Given the description of an element on the screen output the (x, y) to click on. 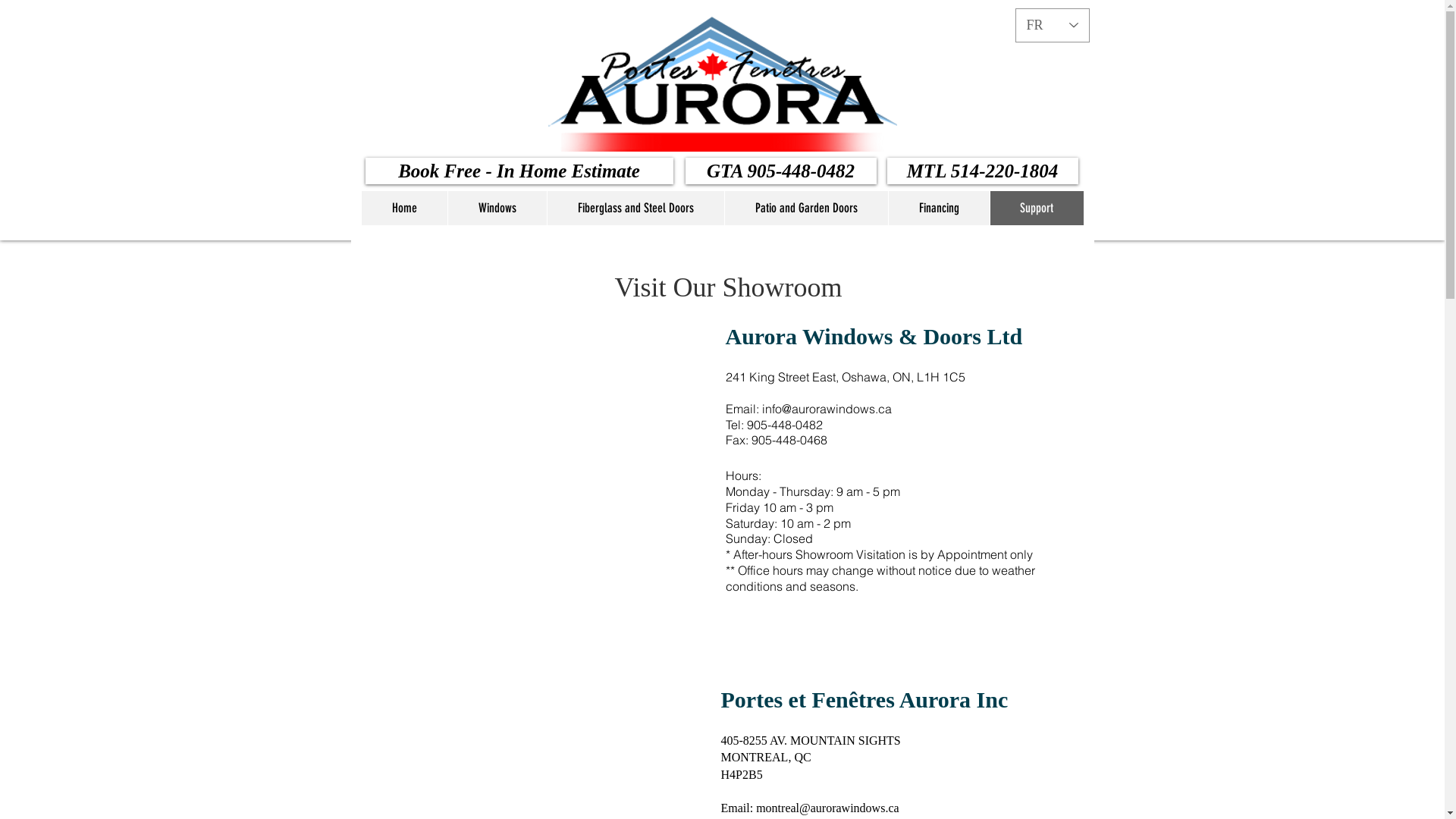
Financing Element type: text (937, 208)
Patio and Garden Doors Element type: text (805, 208)
Google Maps Element type: hover (534, 454)
GTA 905-448-0482 Element type: text (780, 170)
Windows Element type: text (496, 208)
info@aurorawindows.ca Element type: text (826, 408)
Home Element type: text (403, 208)
Fiberglass and Steel Doors Element type: text (634, 208)
Book Free - In Home Estimate Element type: text (519, 170)
MTL 514-220-1804 Element type: text (982, 170)
montreal@aurorawindows.ca Element type: text (827, 807)
Support Element type: text (1035, 208)
